Given the description of an element on the screen output the (x, y) to click on. 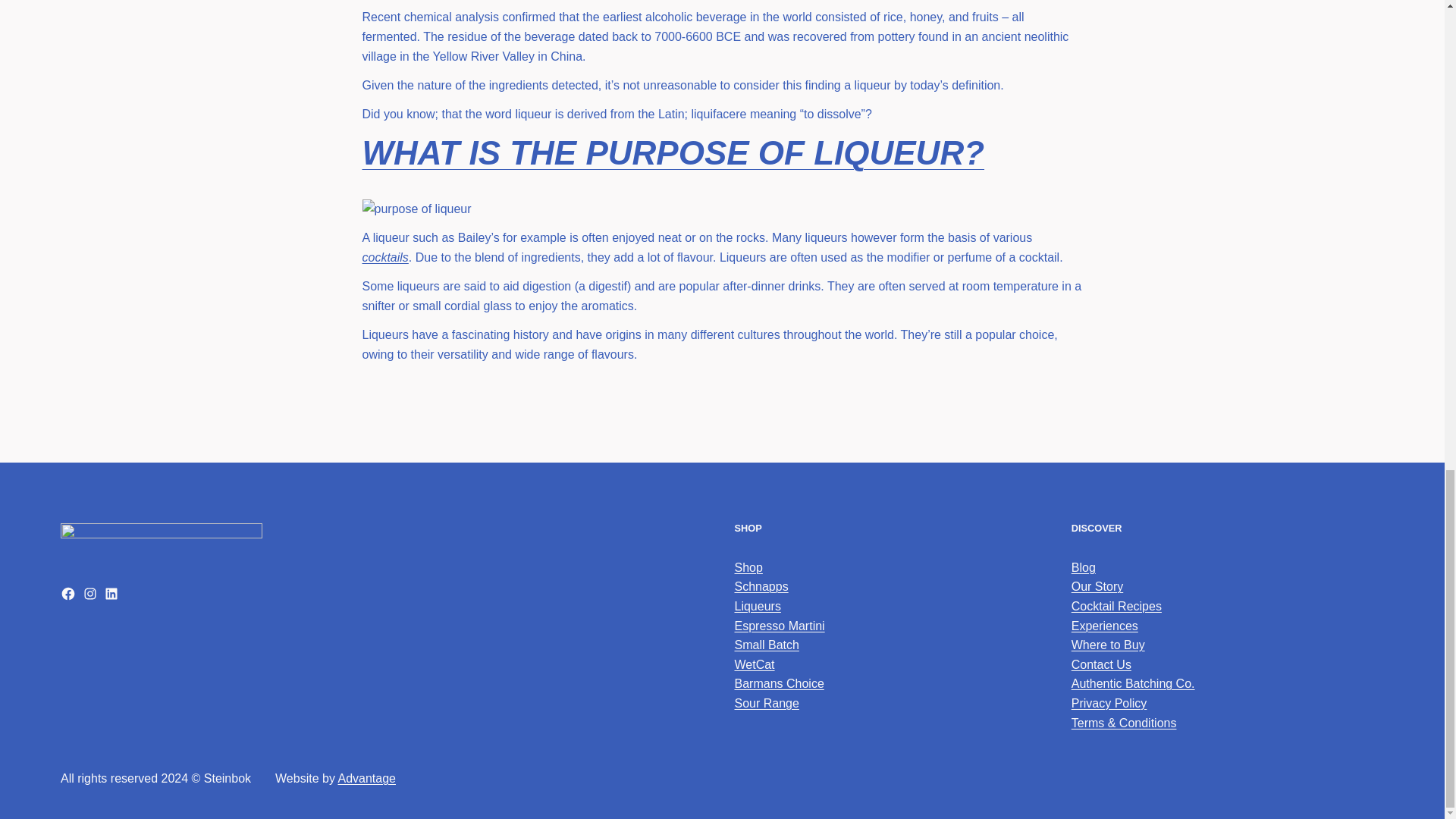
Facebook (68, 593)
cocktails (385, 256)
Small Batch (765, 644)
Liqueurs (756, 605)
Espresso Martini (778, 625)
LinkedIn (111, 593)
WHAT IS THE PURPOSE OF LIQUEUR? (673, 152)
Shop (747, 567)
Instagram (89, 593)
Schnapps (760, 585)
